Given the description of an element on the screen output the (x, y) to click on. 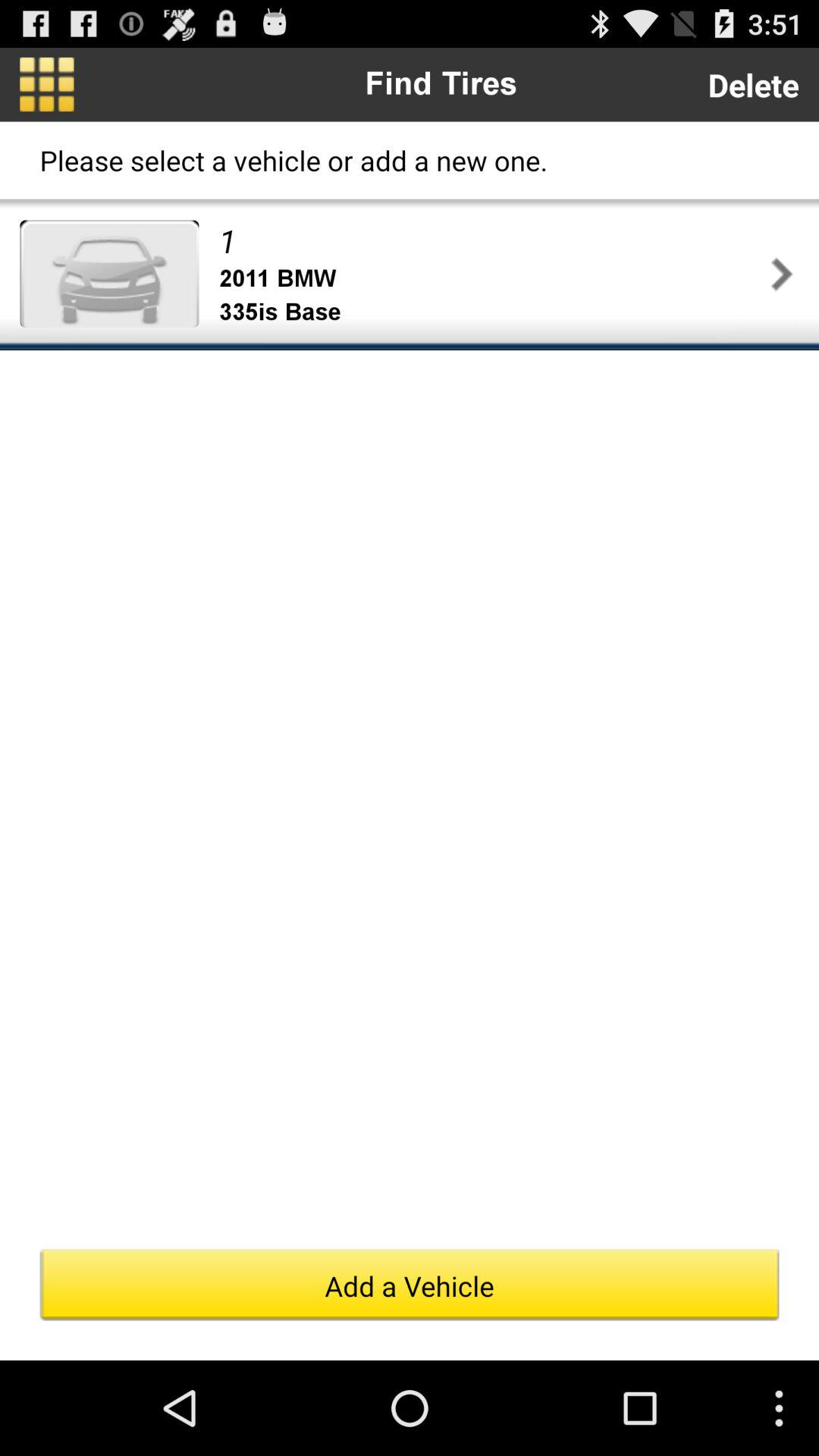
choose the 335is base item (491, 312)
